Given the description of an element on the screen output the (x, y) to click on. 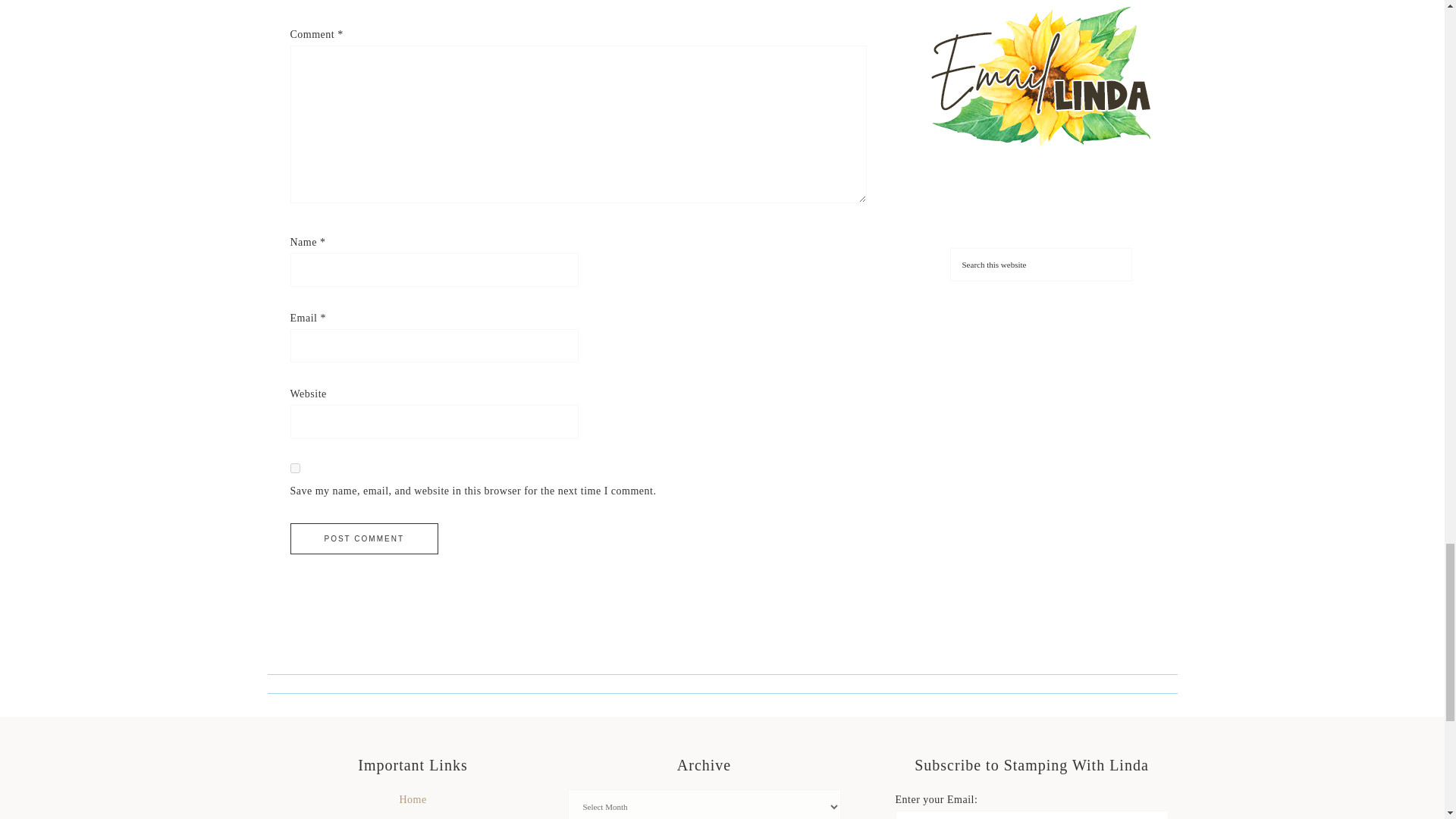
Post Comment (363, 538)
yes (294, 468)
Post Comment (363, 538)
